Given the description of an element on the screen output the (x, y) to click on. 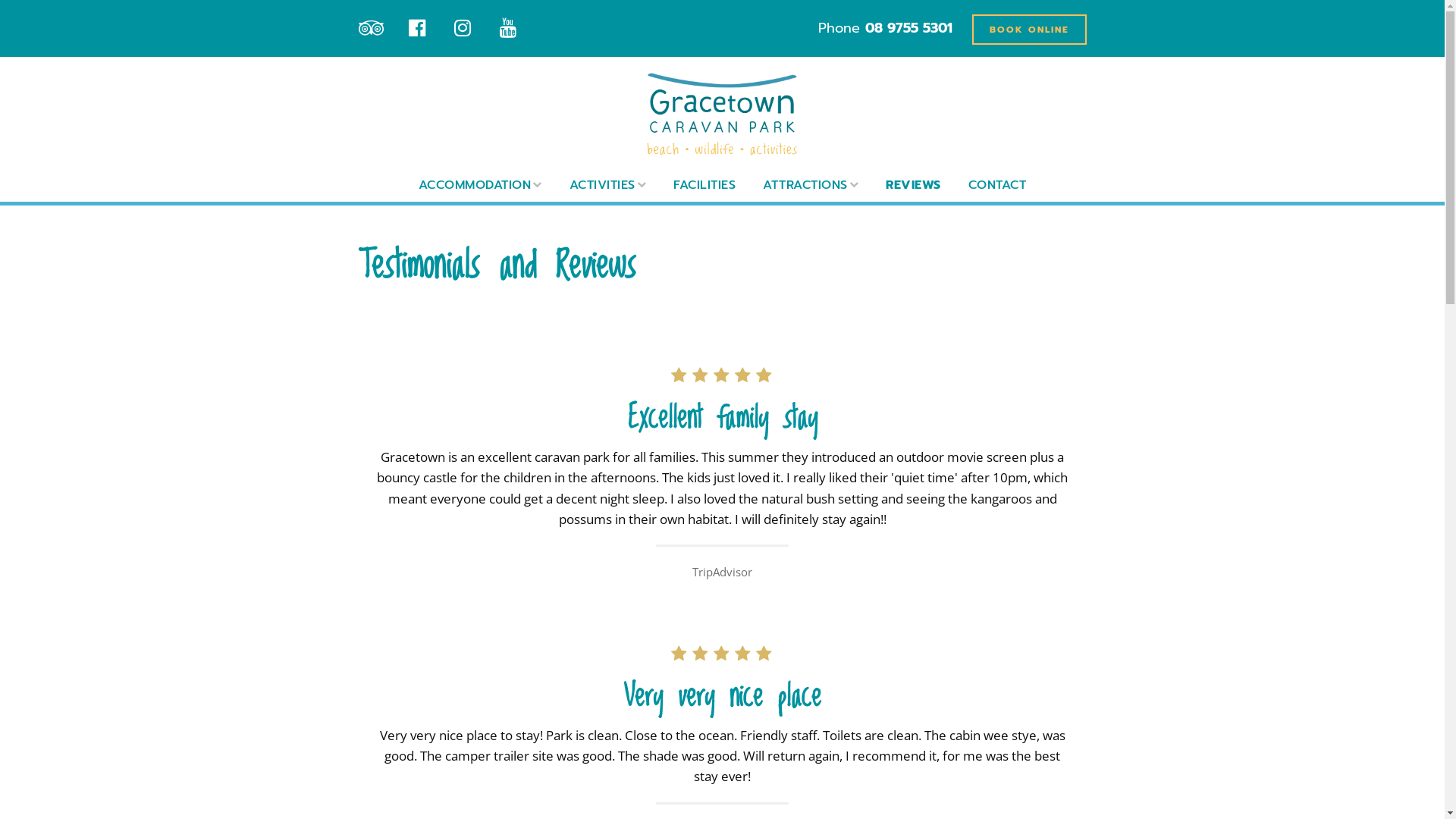
ACTIVITIES Element type: text (607, 184)
FACILITIES Element type: text (704, 184)
ATTRACTIONS Element type: text (810, 184)
CONTACT Element type: text (997, 184)
ACCOMMODATION Element type: text (480, 184)
REVIEWS Element type: text (913, 184)
BOOK ONLINE Element type: text (1029, 29)
